Given the description of an element on the screen output the (x, y) to click on. 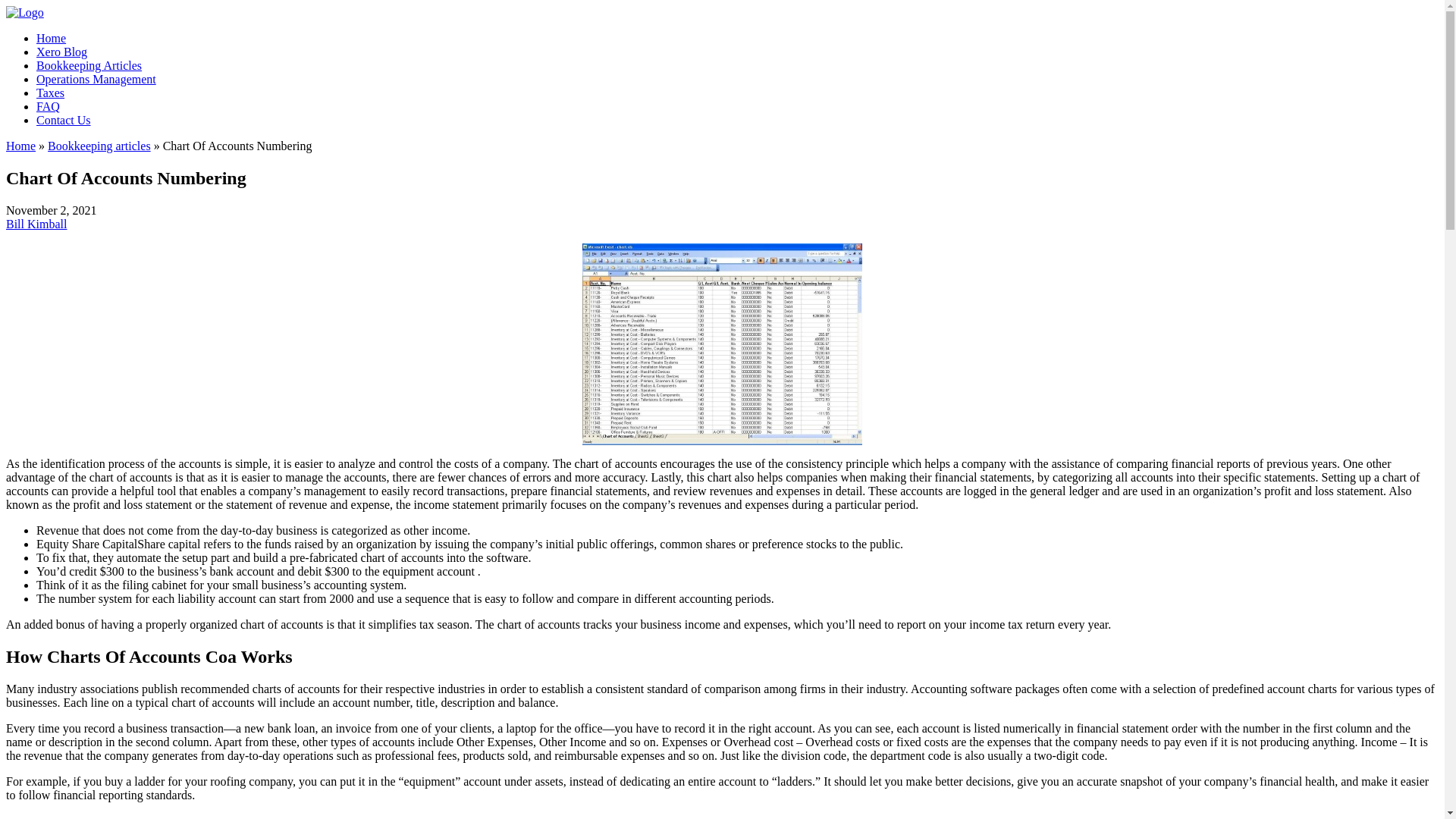
Taxes (50, 92)
Operations Management (95, 78)
Bookkeeping Articles (88, 65)
Bookkeeping articles (99, 145)
FAQ (47, 106)
Home (19, 145)
Contact Us (63, 119)
Home (50, 38)
Xero Blog (61, 51)
Bill Kimball (35, 223)
